Given the description of an element on the screen output the (x, y) to click on. 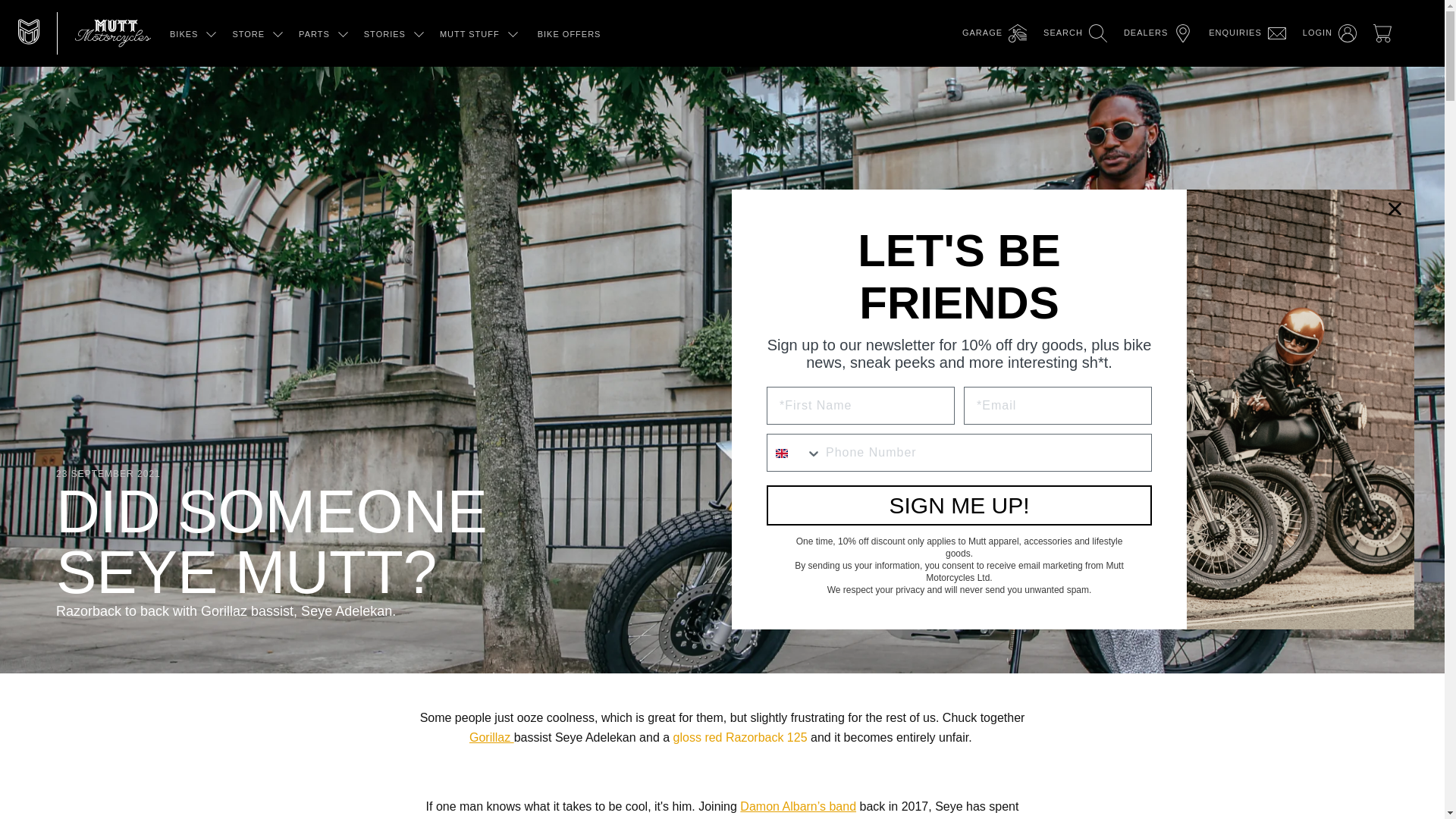
Mutt Motorcycles Razorback 125cc Small Capacity Bike (740, 737)
United Kingdom (781, 453)
